Given the description of an element on the screen output the (x, y) to click on. 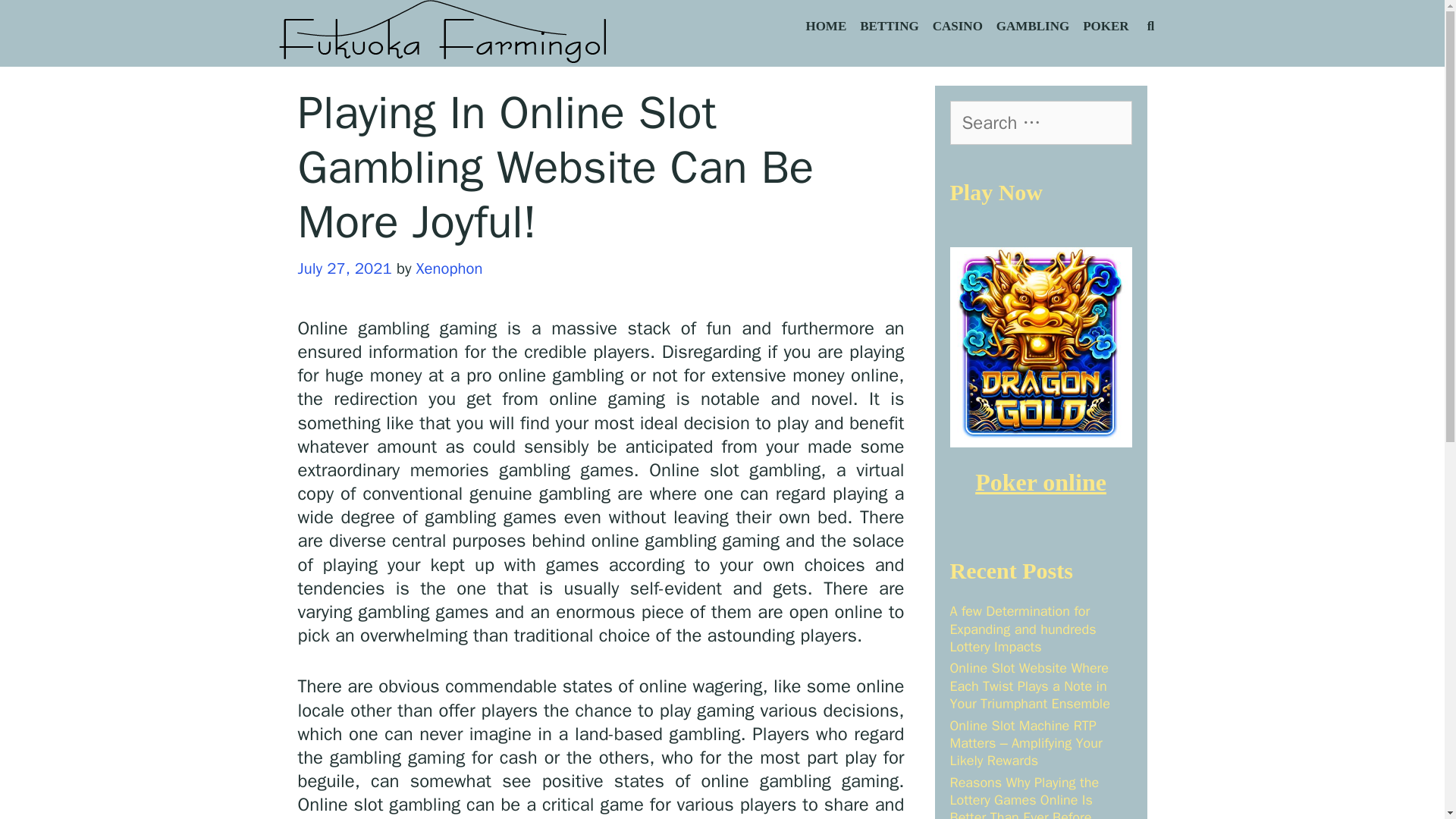
GAMBLING (1032, 26)
Search (40, 20)
Search (183, 26)
Fukuoka Farmingol (443, 31)
Poker online (1040, 482)
July 27, 2021 (344, 268)
Search for: (1040, 122)
HOME (825, 26)
